Given the description of an element on the screen output the (x, y) to click on. 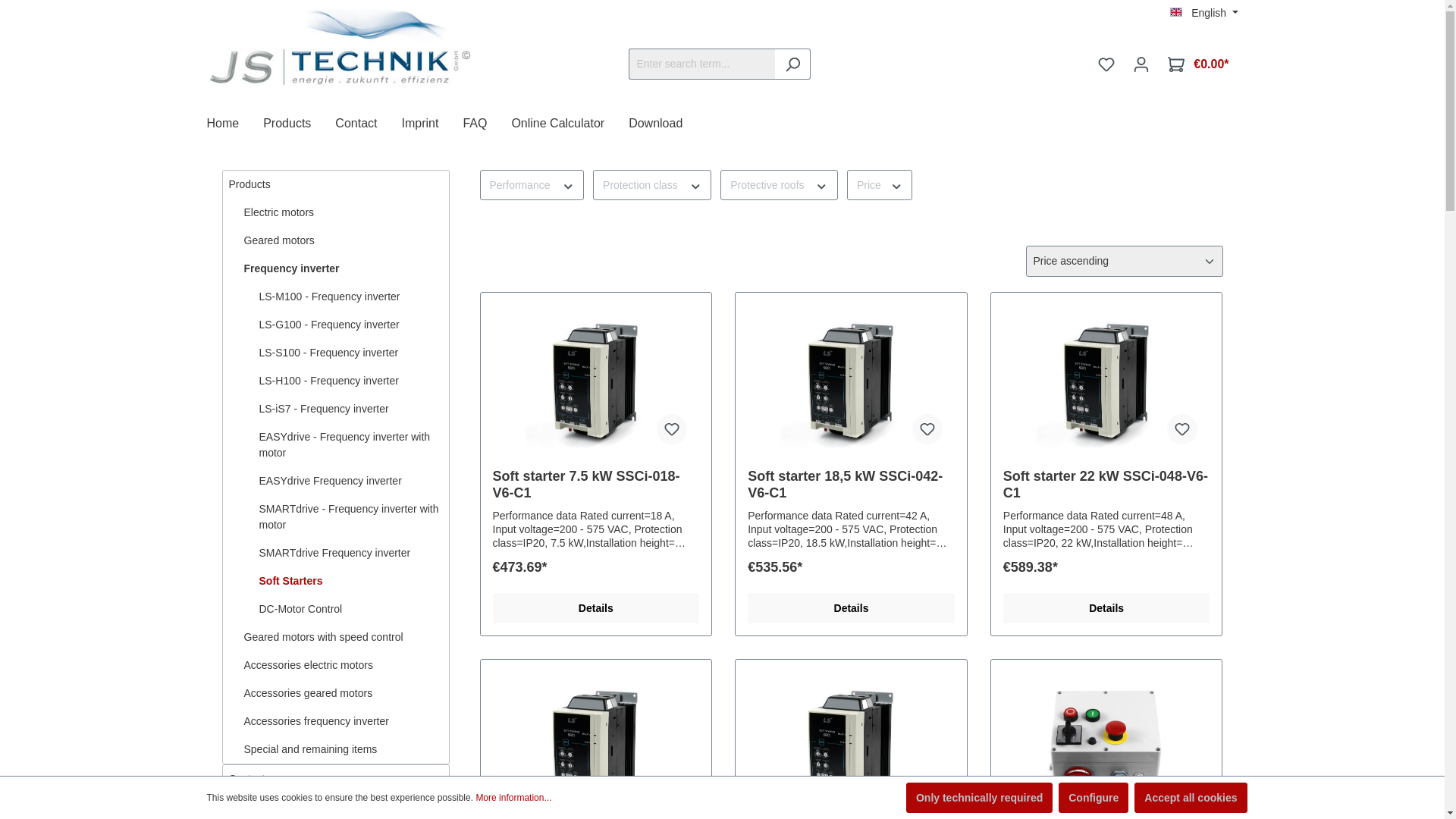
Home (234, 125)
Wishlist (1106, 63)
Download (667, 125)
Online Calculator (569, 125)
Home (234, 125)
Products (298, 125)
English (1203, 12)
Your account (1141, 63)
Go to homepage (338, 49)
Contact (367, 125)
Imprint (432, 125)
Contact (367, 125)
Shopping cart (1197, 63)
